Given the description of an element on the screen output the (x, y) to click on. 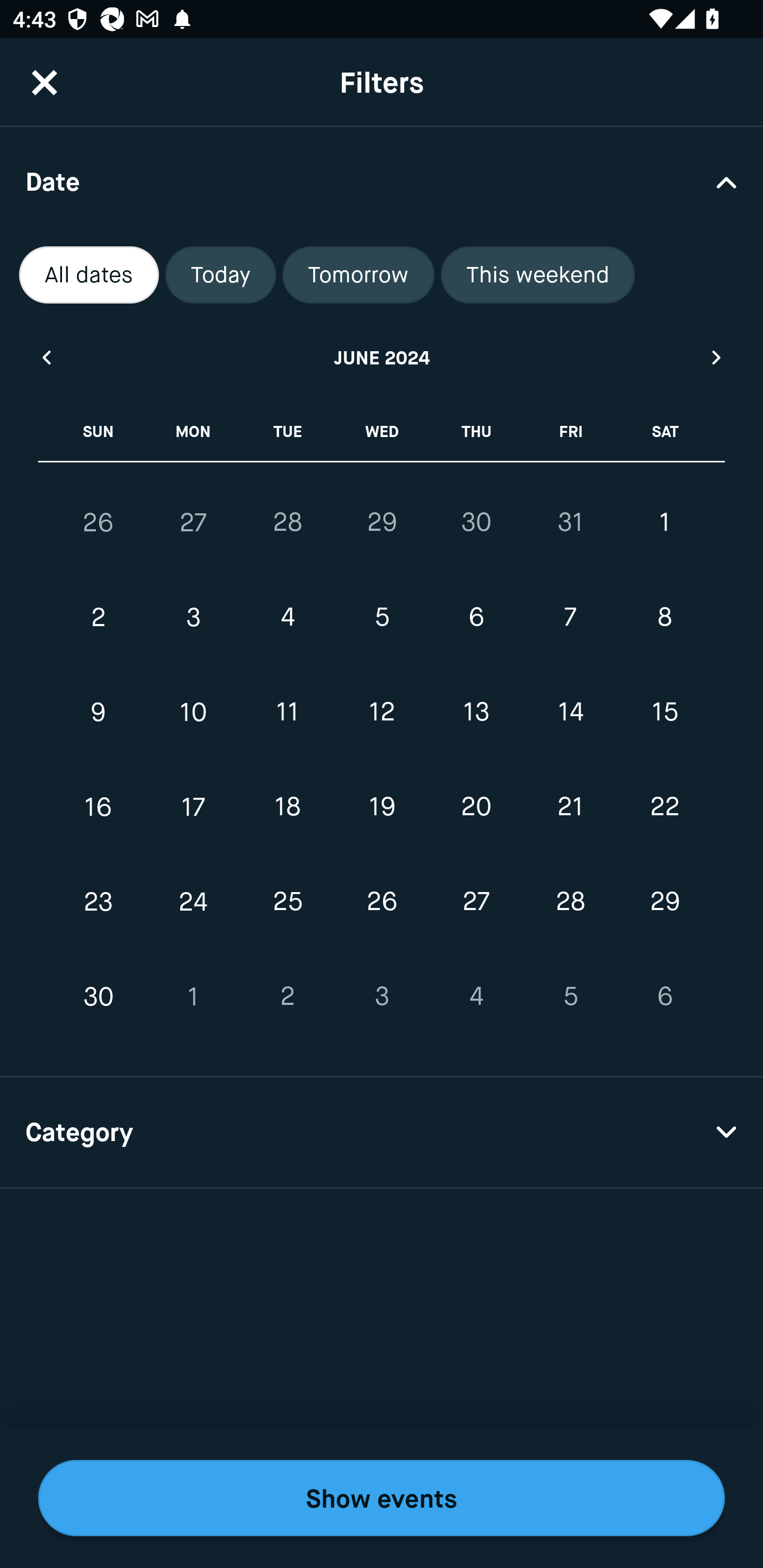
CloseButton (44, 82)
Date Drop Down Arrow (381, 181)
All dates (88, 274)
Today (220, 274)
Tomorrow (358, 274)
This weekend (537, 274)
Previous (45, 357)
Next (717, 357)
26 (98, 522)
27 (192, 522)
28 (287, 522)
29 (381, 522)
30 (475, 522)
31 (570, 522)
1 (664, 522)
2 (98, 617)
3 (192, 617)
4 (287, 617)
5 (381, 617)
6 (475, 617)
7 (570, 617)
8 (664, 617)
9 (98, 711)
10 (192, 711)
11 (287, 711)
12 (381, 711)
13 (475, 711)
14 (570, 711)
15 (664, 711)
16 (98, 806)
17 (192, 806)
18 (287, 806)
19 (381, 806)
20 (475, 806)
21 (570, 806)
22 (664, 806)
23 (98, 901)
24 (192, 901)
25 (287, 901)
26 (381, 901)
27 (475, 901)
28 (570, 901)
29 (664, 901)
30 (98, 996)
1 (192, 996)
2 (287, 996)
3 (381, 996)
4 (475, 996)
5 (570, 996)
6 (664, 996)
